Given the description of an element on the screen output the (x, y) to click on. 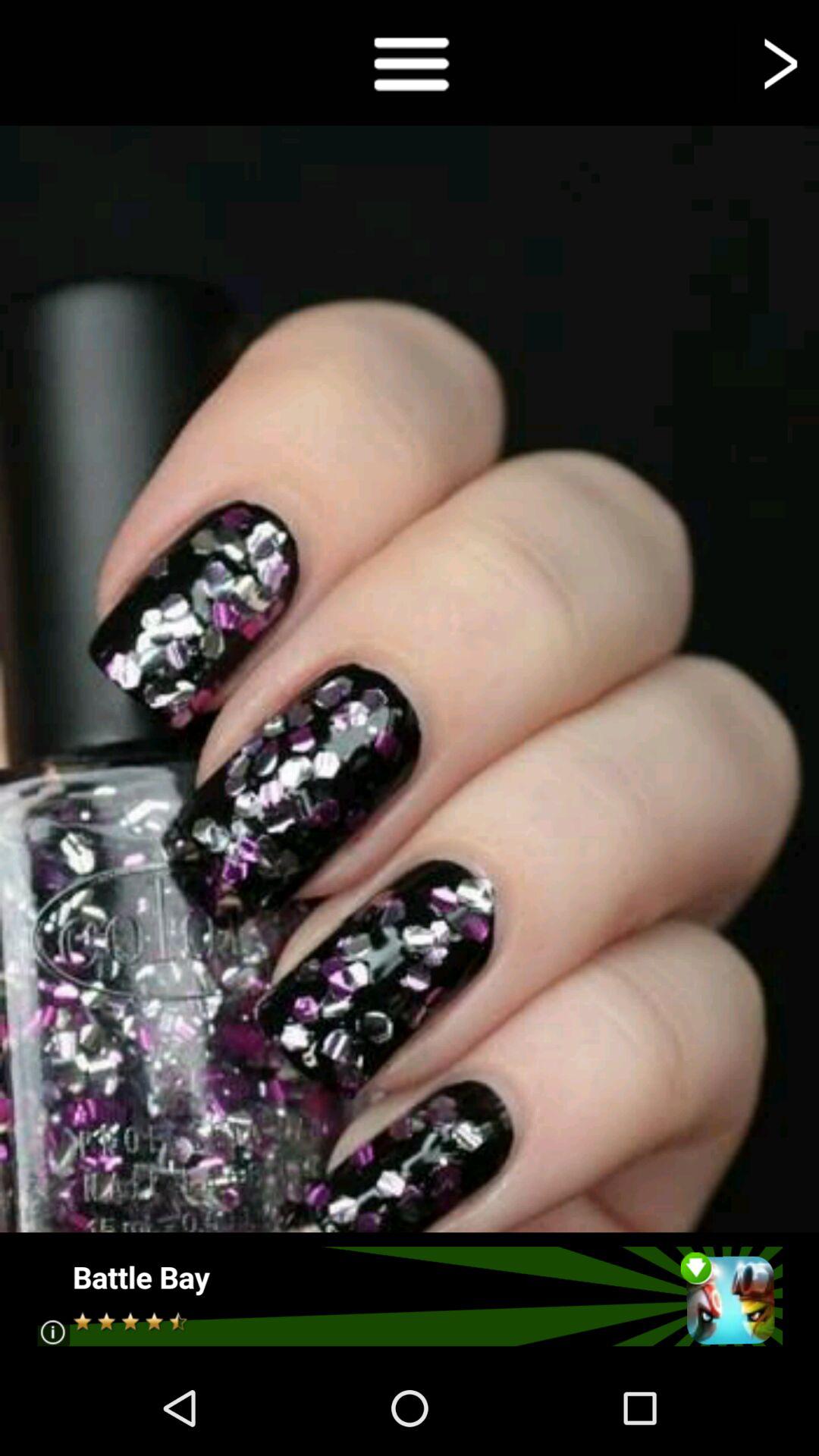
go to next or swipe right (778, 62)
